Given the description of an element on the screen output the (x, y) to click on. 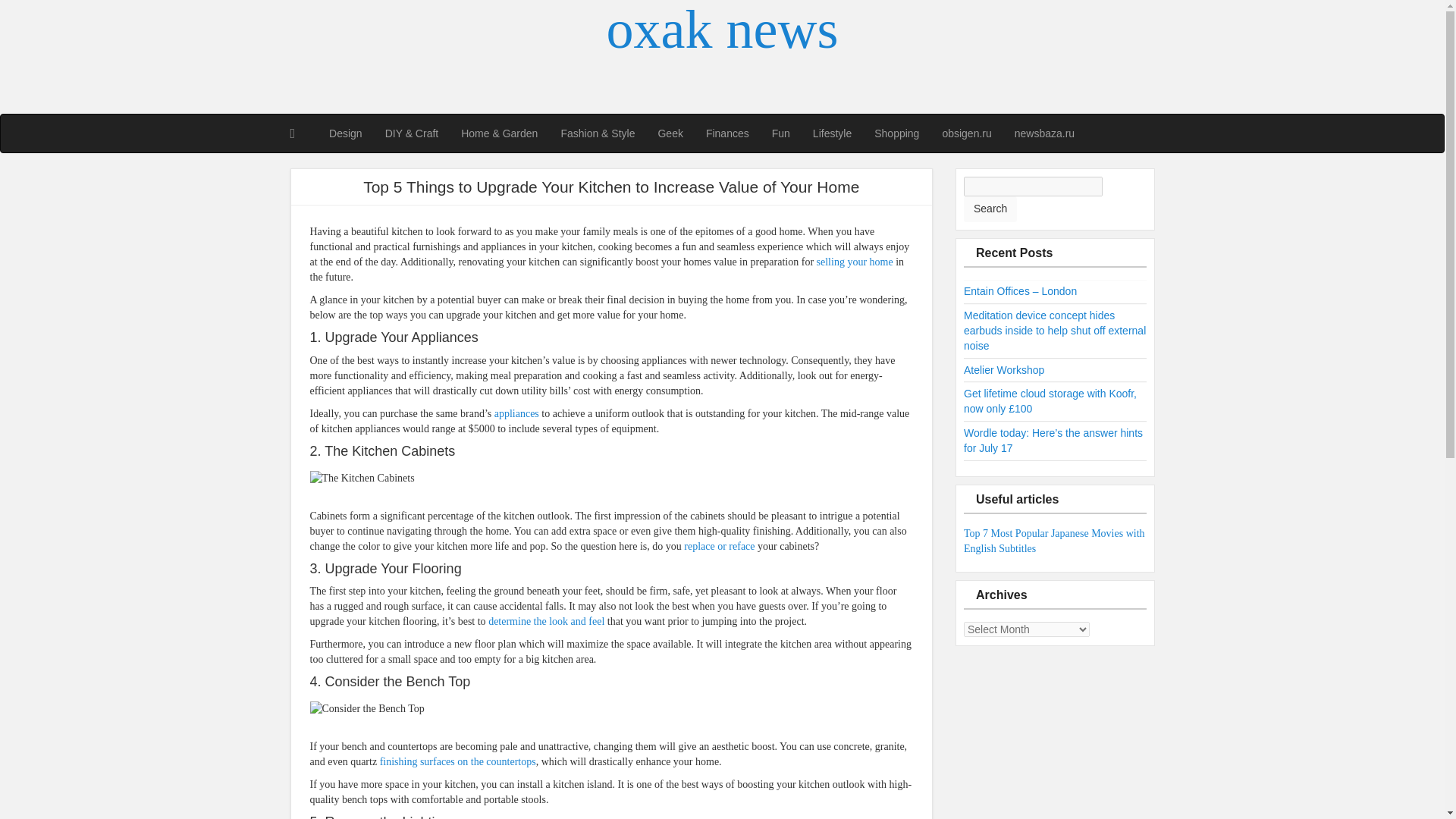
Lifestyle (832, 133)
Finances (727, 133)
Design (345, 133)
finishing surfaces on the countertops (457, 761)
determine the look and feel (545, 621)
Shopping (896, 133)
Geek (670, 133)
Atelier Workshop (1003, 369)
obsigen.ru (966, 133)
Fun (781, 133)
Finances (727, 133)
selling your home (854, 261)
Design (345, 133)
Fun (781, 133)
replace or reface (719, 546)
